Given the description of an element on the screen output the (x, y) to click on. 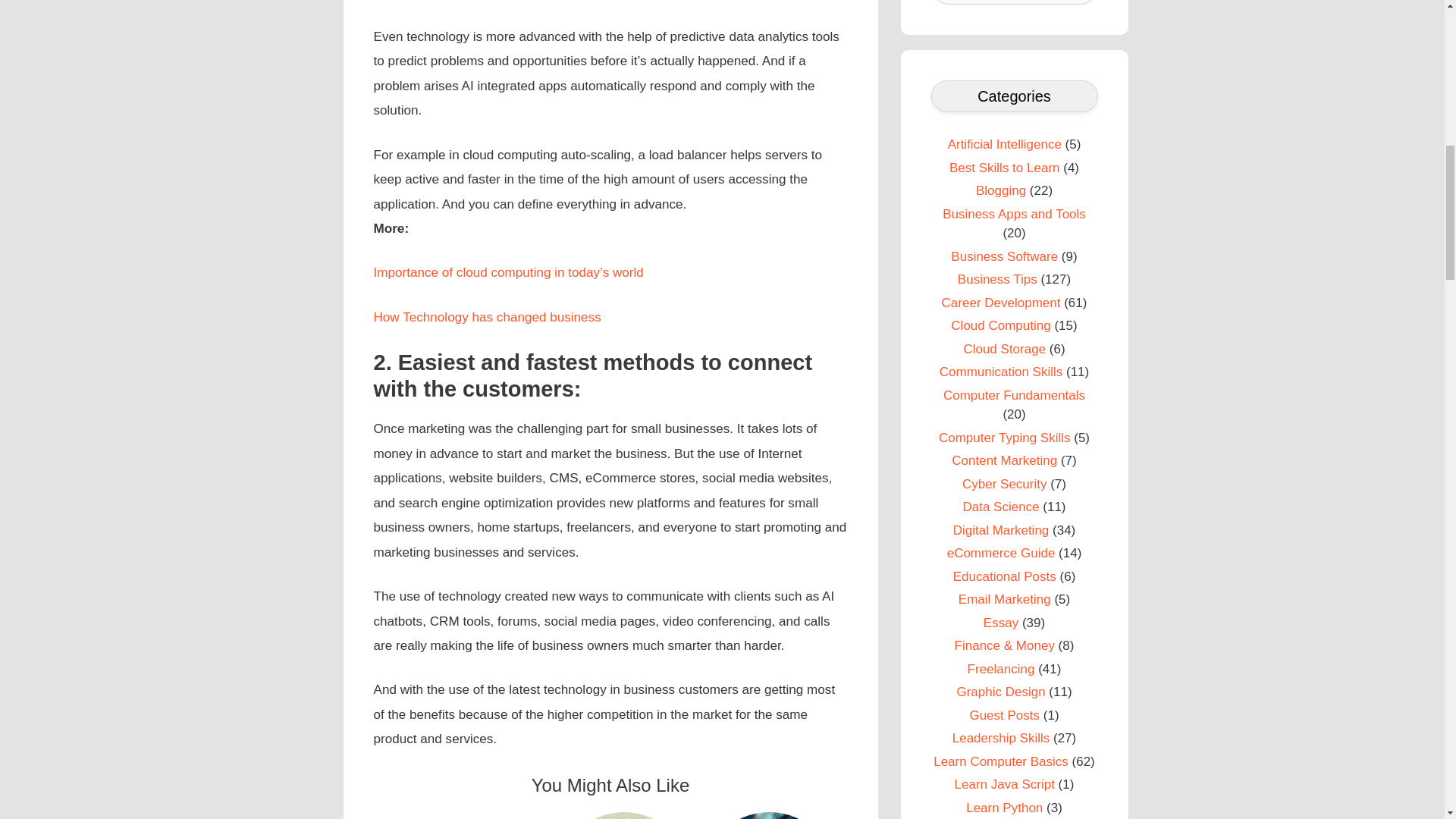
How Technology has changed business (485, 317)
